Given the description of an element on the screen output the (x, y) to click on. 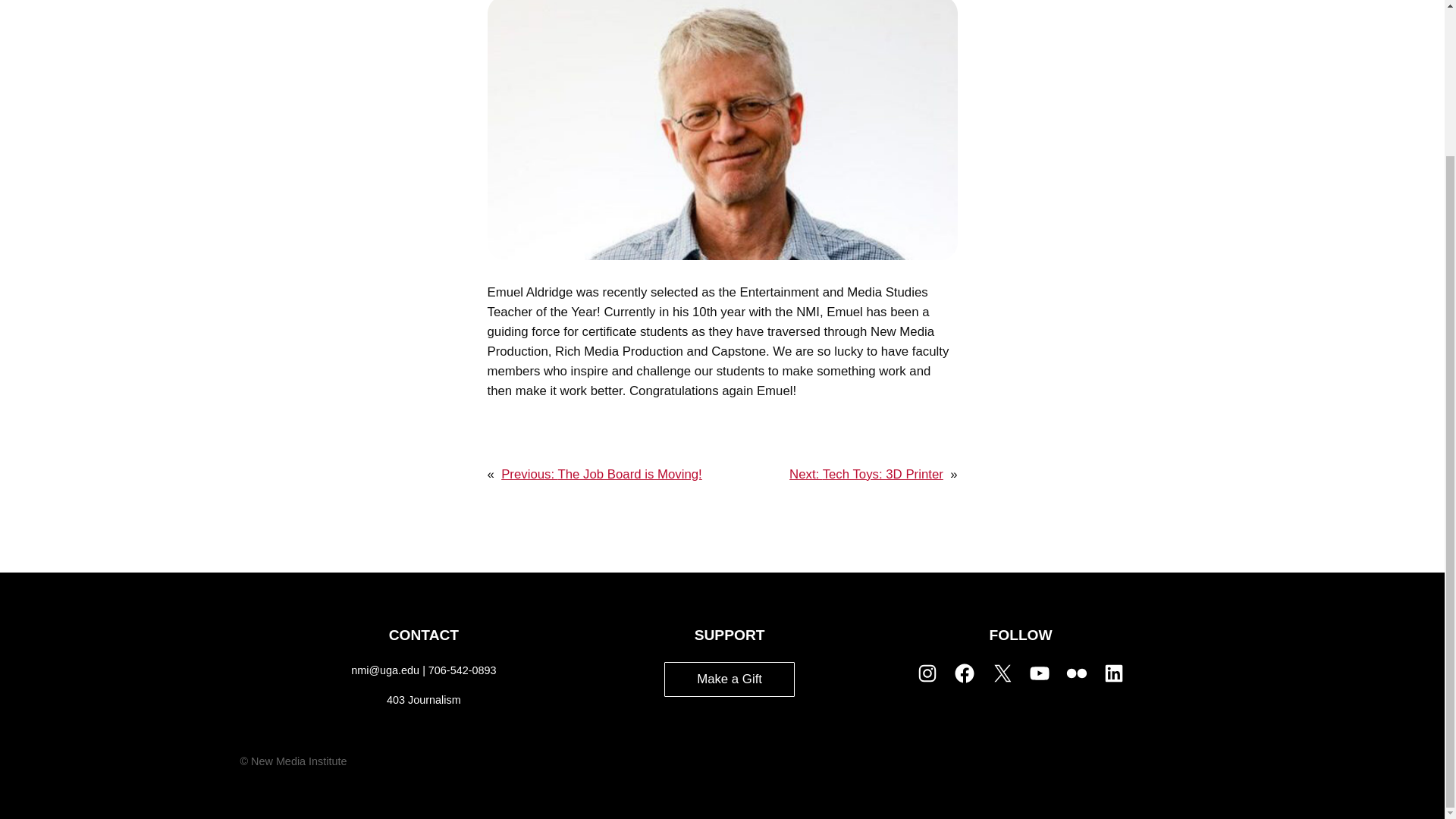
Previous: The Job Board is Moving! (600, 473)
